Given the description of an element on the screen output the (x, y) to click on. 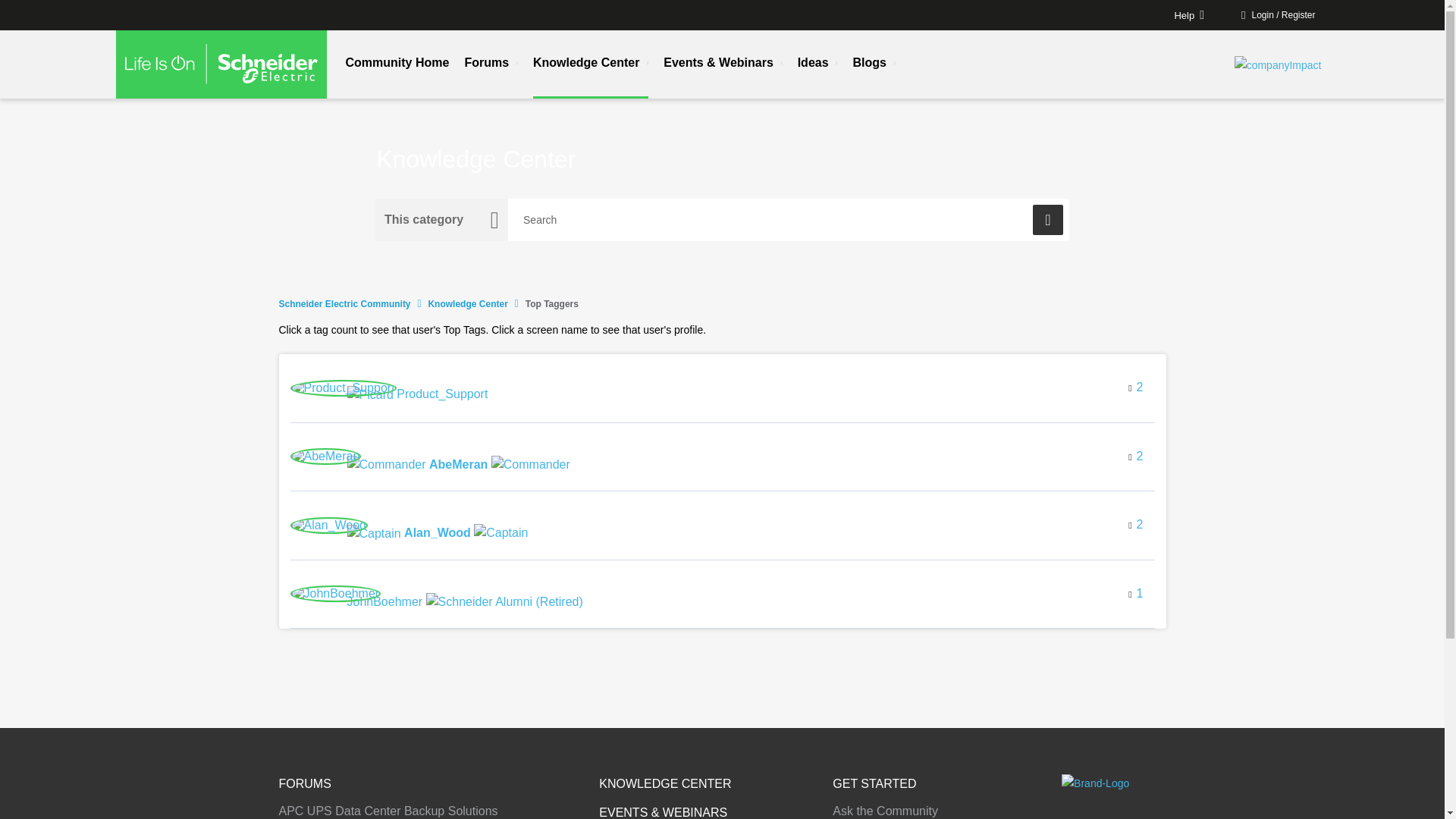
Commander (386, 464)
FORUMS (305, 783)
Search (1047, 219)
Search (788, 219)
Knowledge Center (467, 303)
Schneider Electric Community (344, 303)
Search (1047, 219)
JohnBoehmer (465, 599)
AbeMeran (325, 456)
Picard (370, 394)
Commander (531, 464)
Help (1183, 14)
Community Home (397, 63)
APC UPS Data Center Backup Solutions (388, 810)
Captain (374, 533)
